Given the description of an element on the screen output the (x, y) to click on. 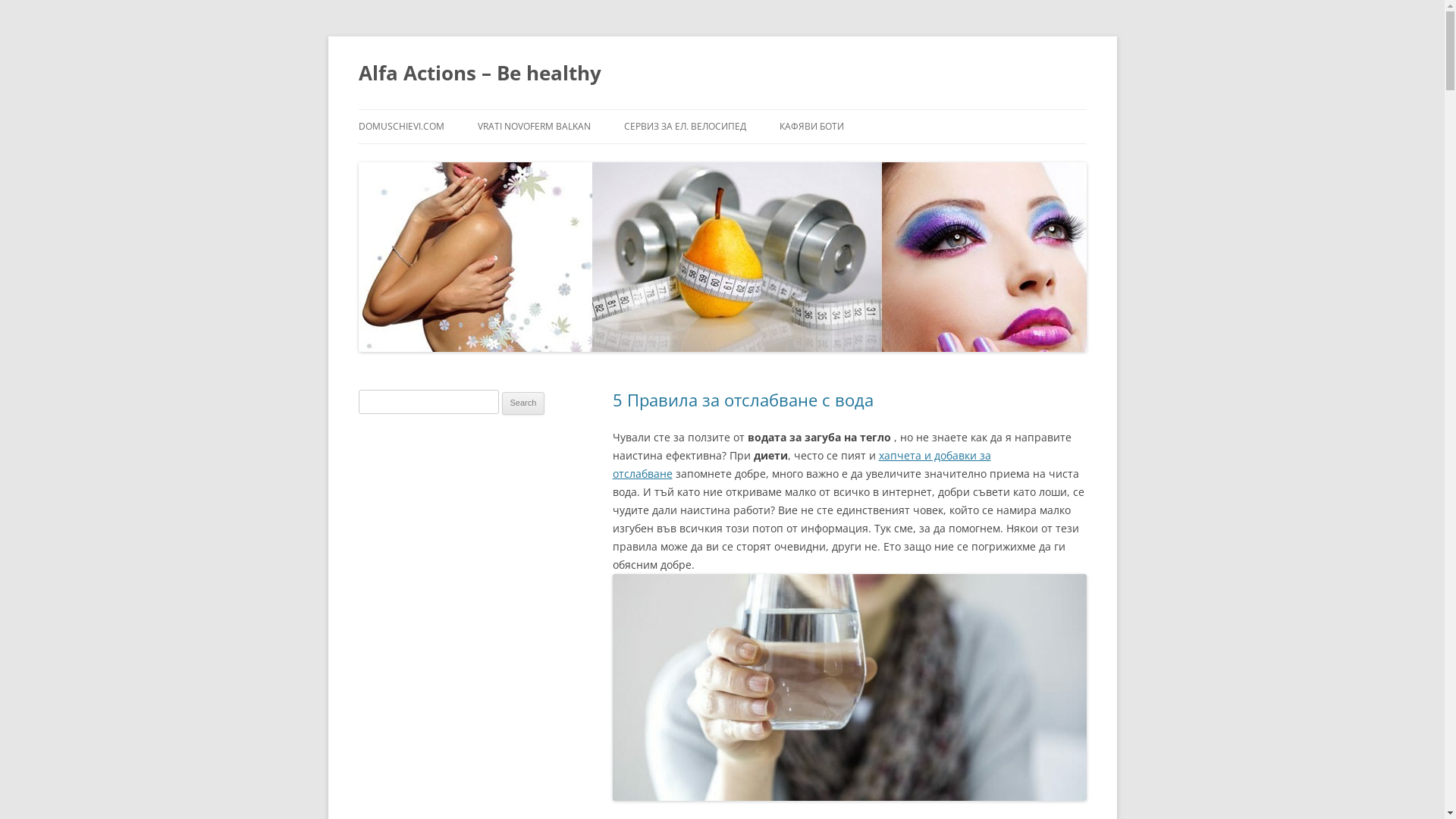
Search Element type: text (523, 403)
Skip to content Element type: text (395, 113)
DOMUSCHIEVI.COM Element type: text (400, 126)
VRATI NOVOFERM BALKAN Element type: text (533, 126)
